Given the description of an element on the screen output the (x, y) to click on. 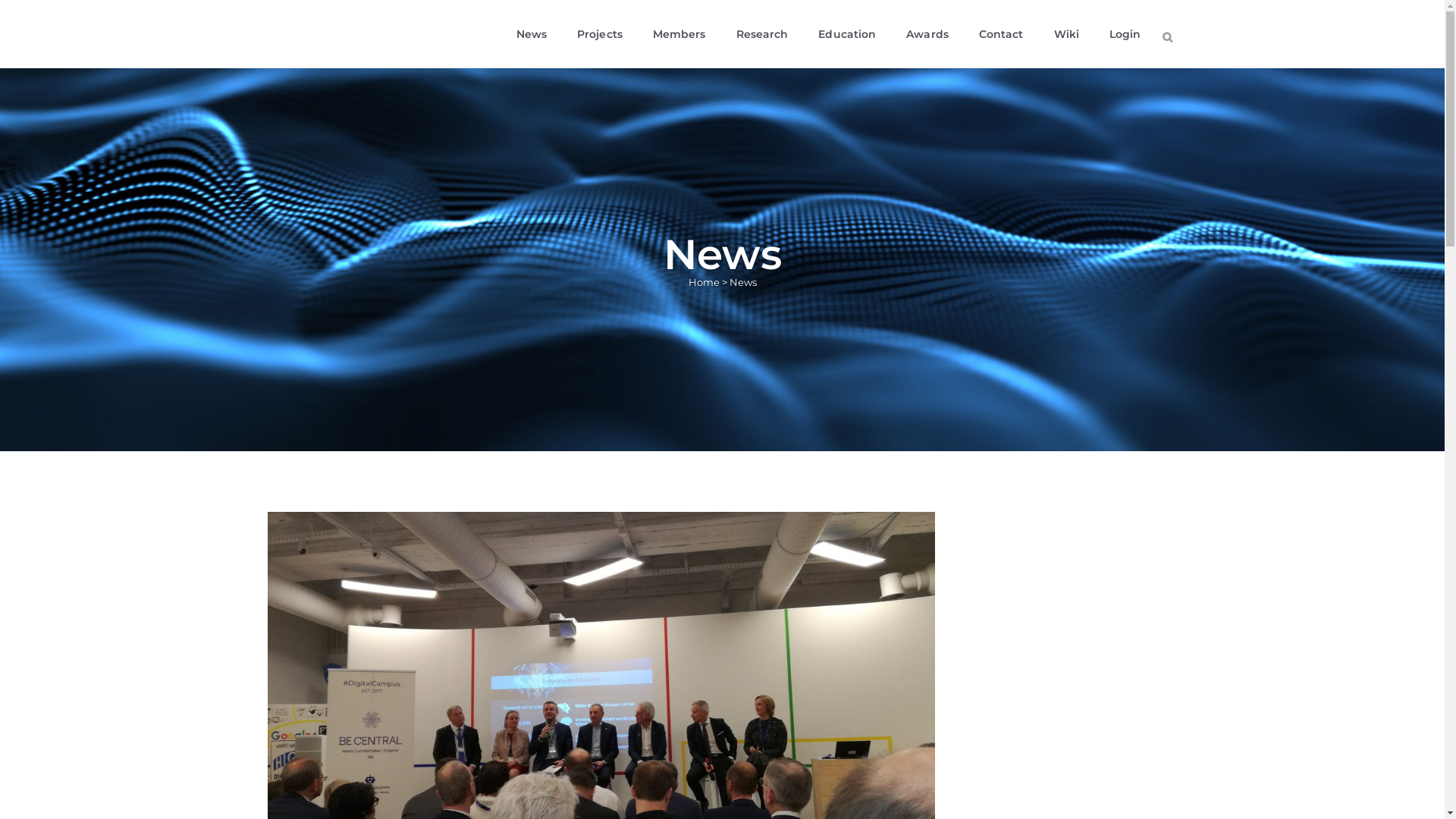
Research Element type: text (762, 34)
Members Element type: text (679, 34)
Login Element type: text (1125, 34)
Projects Element type: text (599, 34)
News Element type: text (531, 34)
Contact Element type: text (1000, 34)
Awards Element type: text (927, 34)
Education Element type: text (847, 34)
Home Element type: text (703, 282)
Wiki Element type: text (1066, 34)
